Given the description of an element on the screen output the (x, y) to click on. 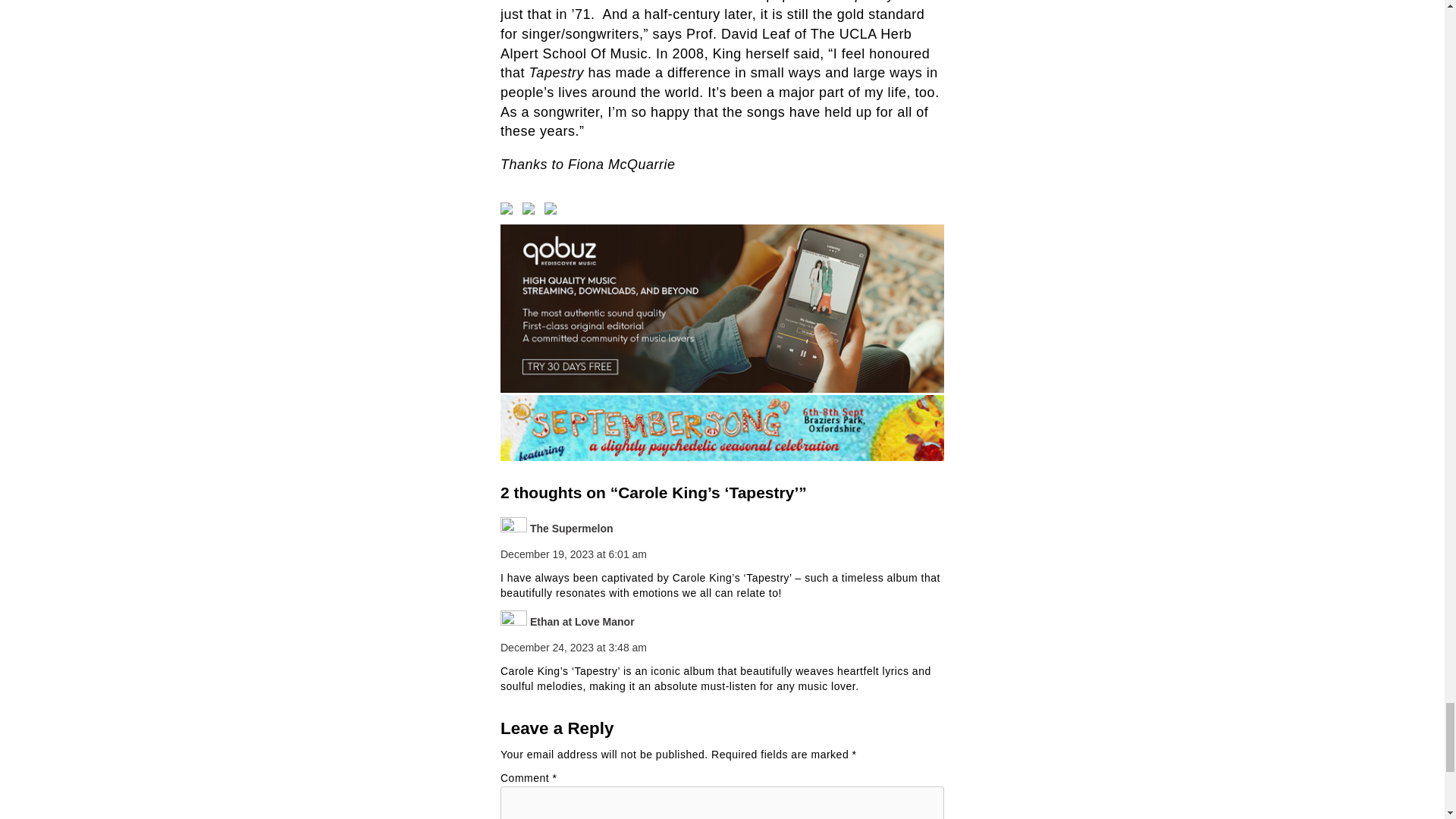
December 19, 2023 at 6:01 am (573, 553)
Ethan at Love Manor (581, 621)
The Supermelon (570, 528)
December 24, 2023 at 3:48 am (573, 647)
